Given the description of an element on the screen output the (x, y) to click on. 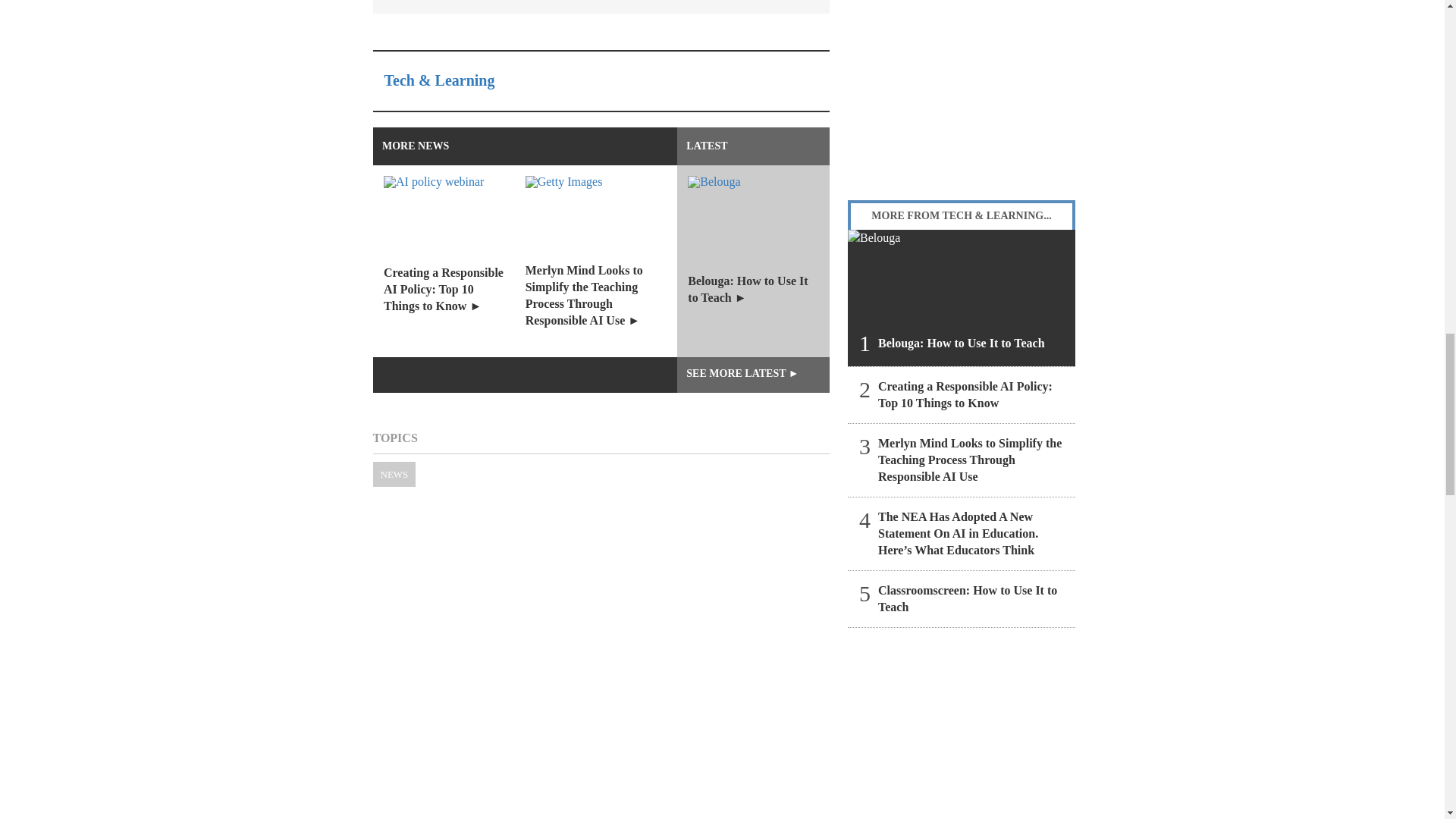
Belouga: How to Use It to Teach (961, 298)
